Given the description of an element on the screen output the (x, y) to click on. 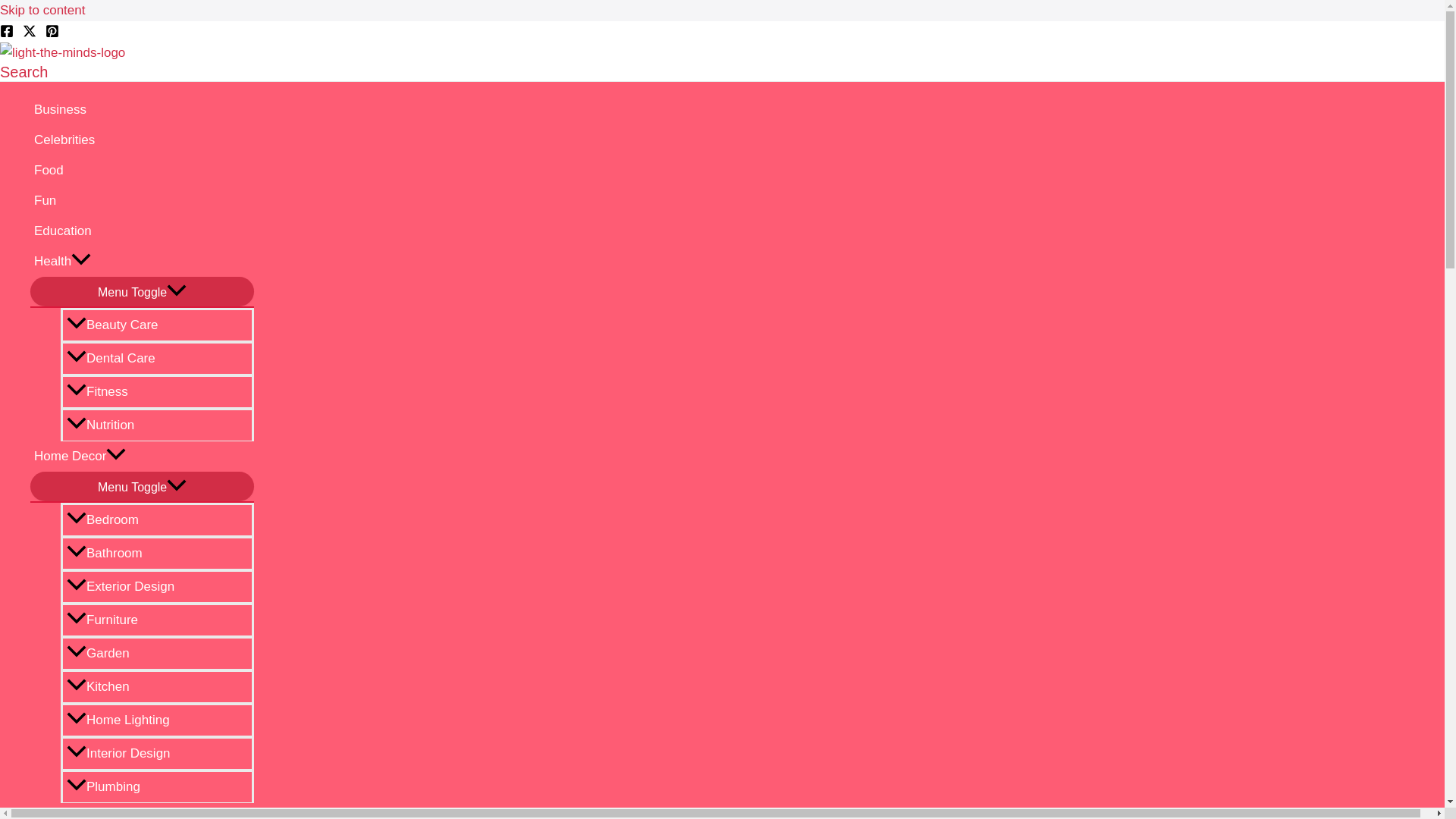
Fitness (157, 390)
Menu Toggle (141, 486)
Celebrities (141, 140)
Bedroom (157, 519)
Bathroom (157, 552)
Home Decor (141, 456)
Interior Design (157, 752)
Skip to content (42, 10)
Kitchen (157, 685)
Health (141, 261)
Education (141, 231)
Furniture (157, 619)
Fun (141, 200)
Plumbing (157, 786)
Menu Toggle (141, 291)
